Given the description of an element on the screen output the (x, y) to click on. 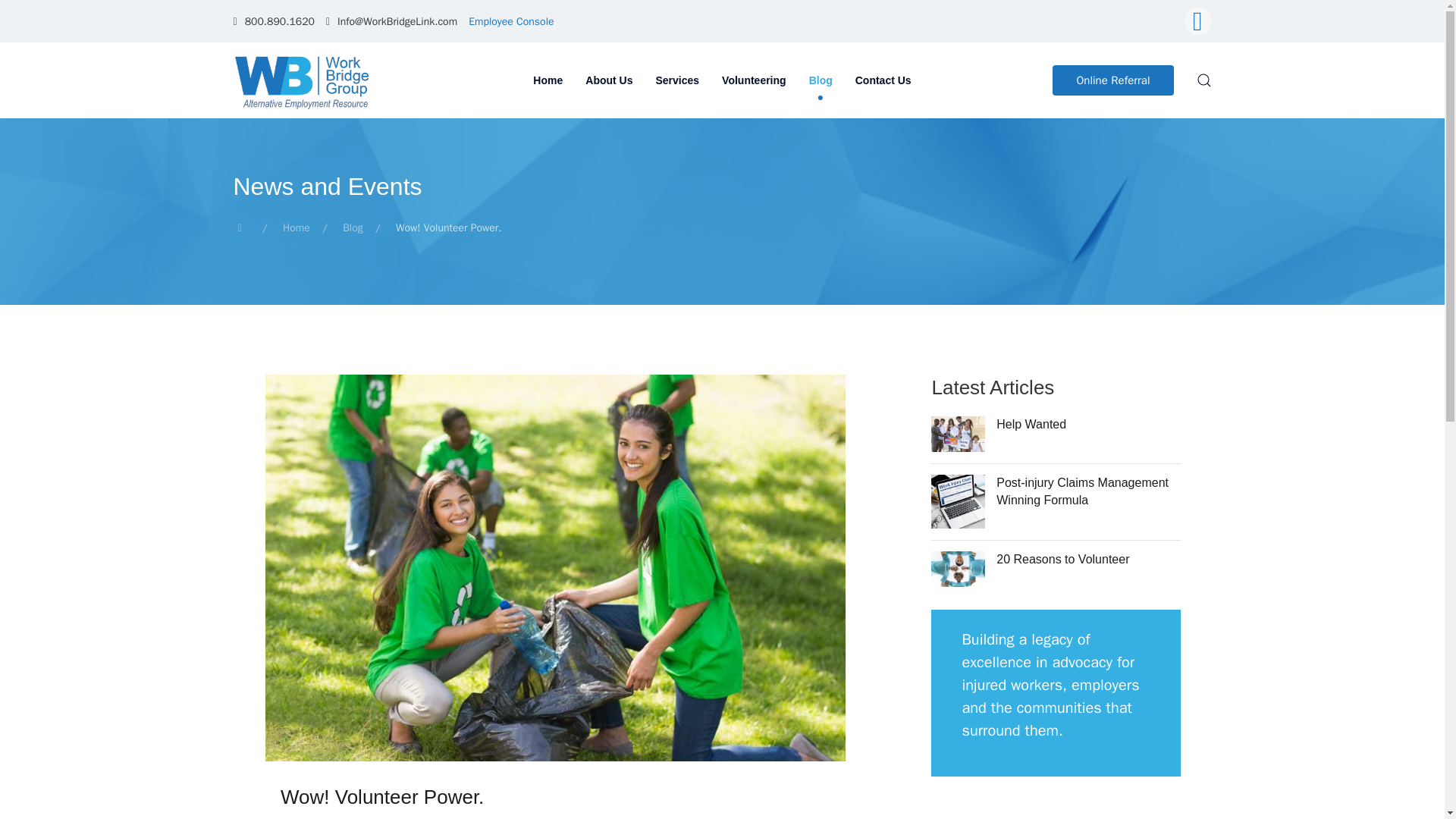
Contact Us (883, 79)
About Us (608, 79)
Home (296, 227)
Post-injury Claims Management Winning Formula (1082, 490)
Blog (352, 227)
20 Reasons to Volunteer (1062, 558)
800.890.1620 (273, 21)
Employee Console (510, 21)
Help Wanted (1030, 423)
Online Referral (1112, 80)
